Given the description of an element on the screen output the (x, y) to click on. 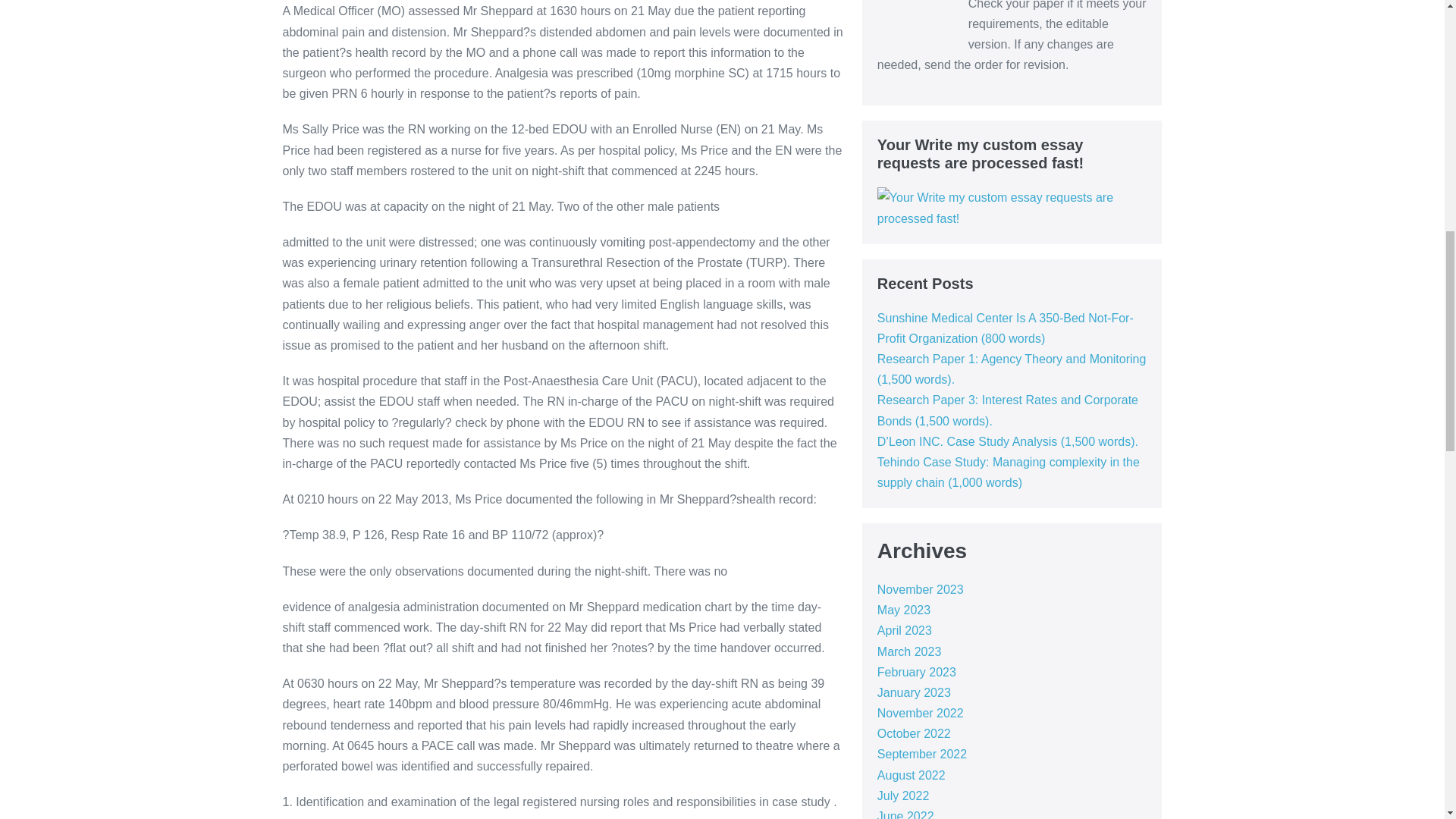
March 2023 (909, 651)
November 2023 (920, 589)
May 2023 (903, 609)
April 2023 (904, 630)
